Given the description of an element on the screen output the (x, y) to click on. 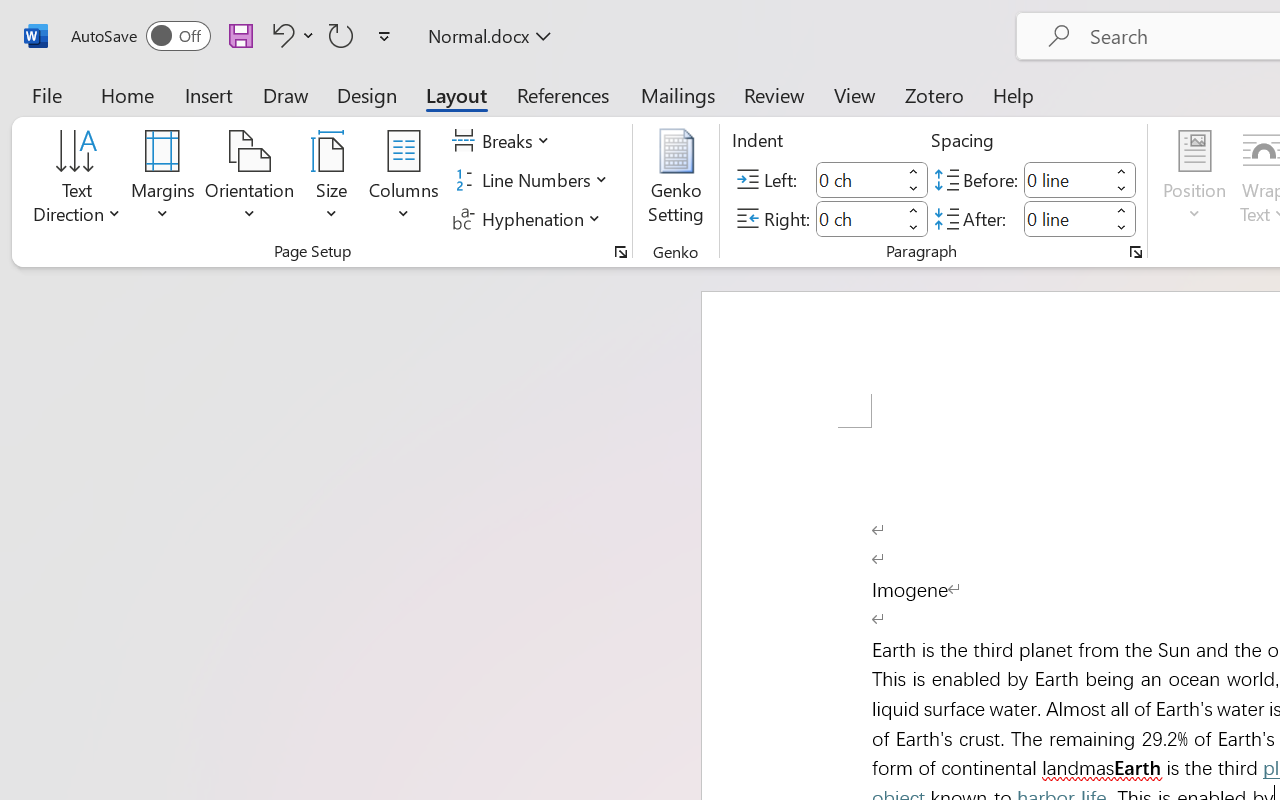
Less (1121, 227)
Position (1194, 179)
Undo Paste Destination Formatting (290, 35)
More (1121, 210)
Spacing Before (1066, 179)
Indent Left (858, 179)
Page Setup... (621, 252)
